Given the description of an element on the screen output the (x, y) to click on. 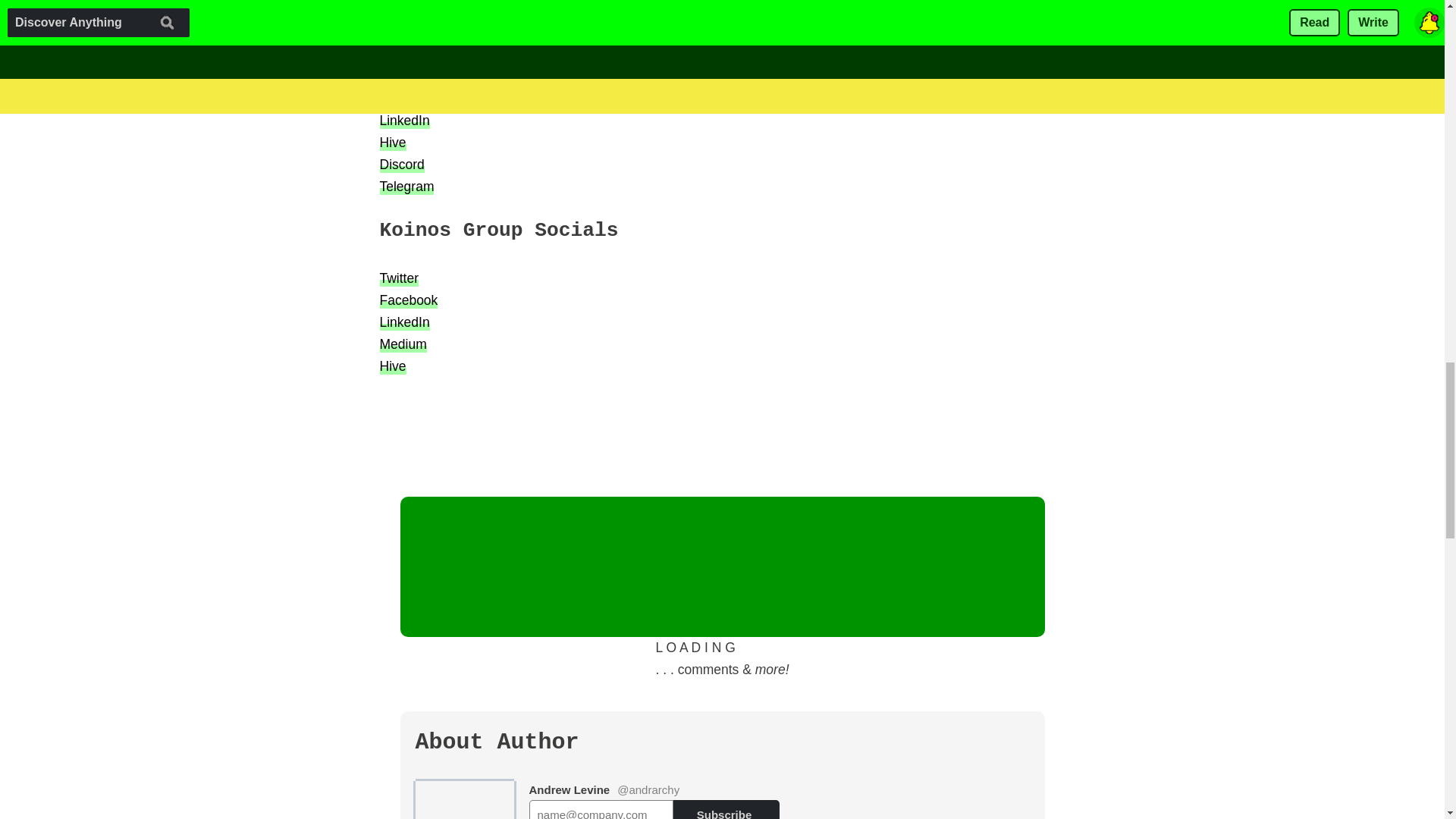
LinkedIn (403, 119)
Facebook (408, 97)
Telegram (405, 185)
LinkedIn (403, 321)
Subscribe (725, 809)
Twitter (398, 277)
Hive (392, 141)
Twitter (398, 75)
Medium (402, 343)
Facebook (408, 299)
